Given the description of an element on the screen output the (x, y) to click on. 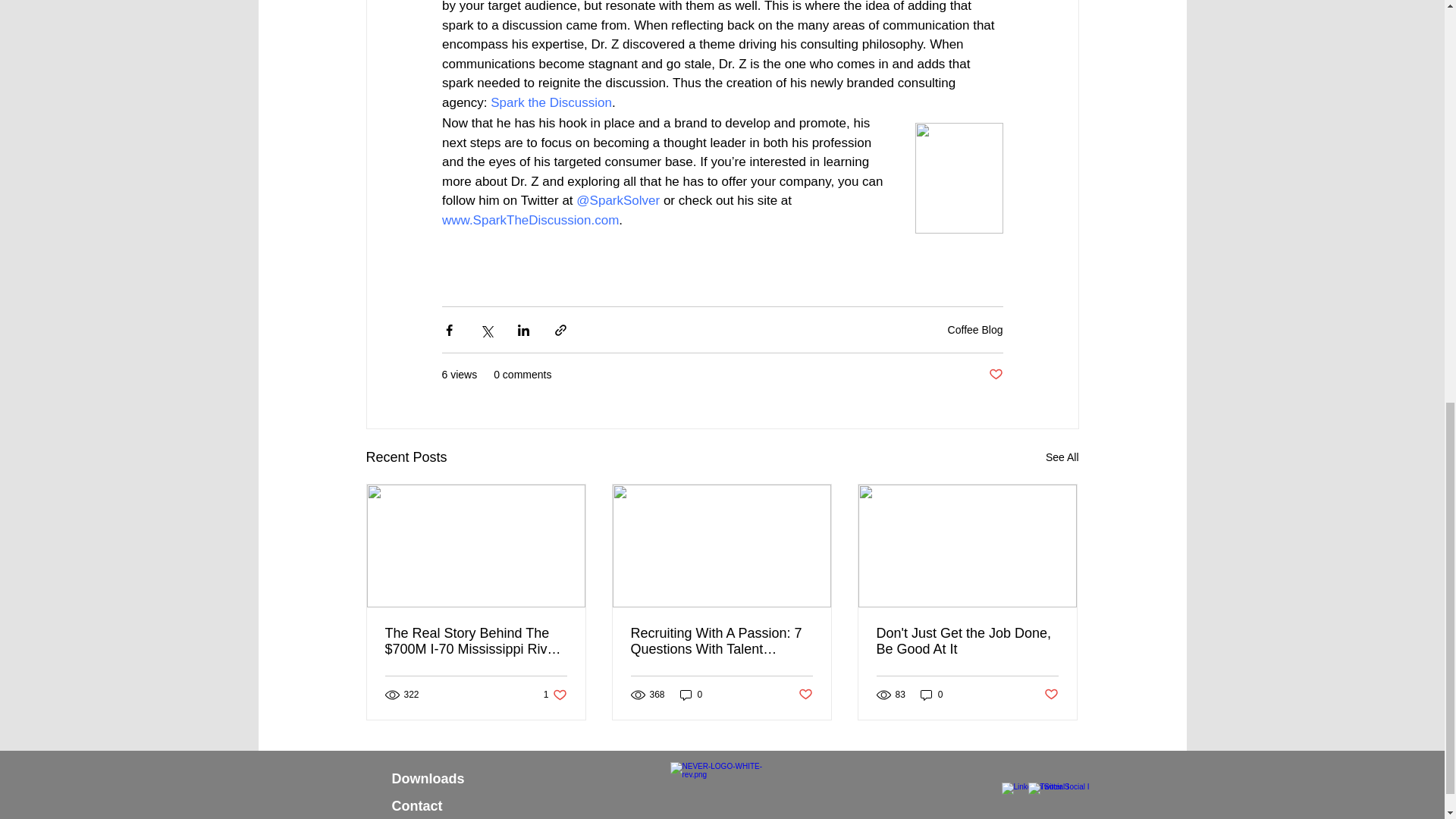
Post not marked as liked (995, 374)
Spark the Discussion (550, 102)
Post not marked as liked (804, 694)
0 (691, 694)
Contact (416, 806)
See All (1061, 457)
www.SparkTheDiscussion.com (529, 219)
Downloads (427, 778)
Post not marked as liked (1050, 694)
Don't Just Get the Job Done, Be Good At It (967, 641)
